Given the description of an element on the screen output the (x, y) to click on. 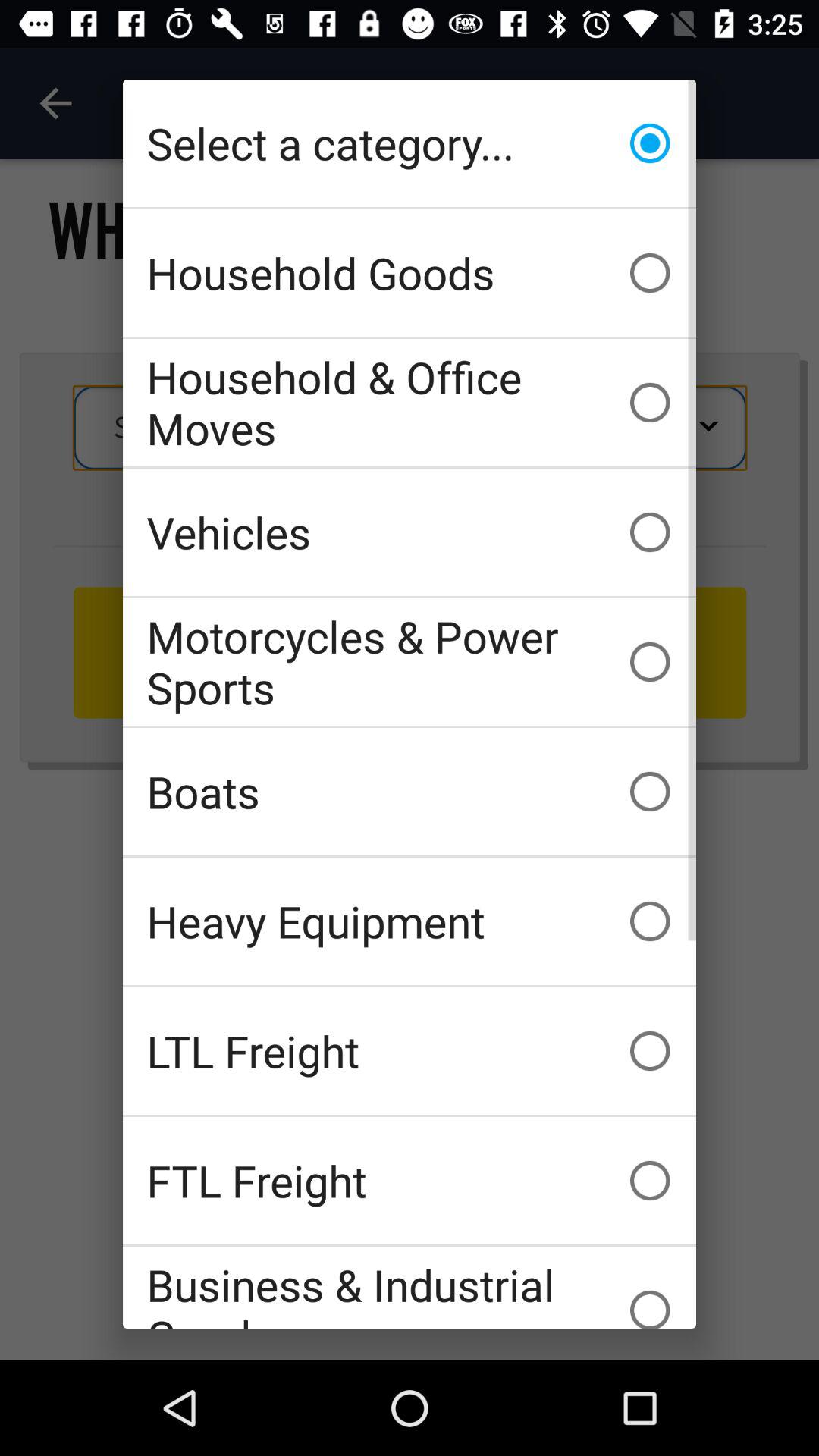
turn off the ftl freight (409, 1180)
